Given the description of an element on the screen output the (x, y) to click on. 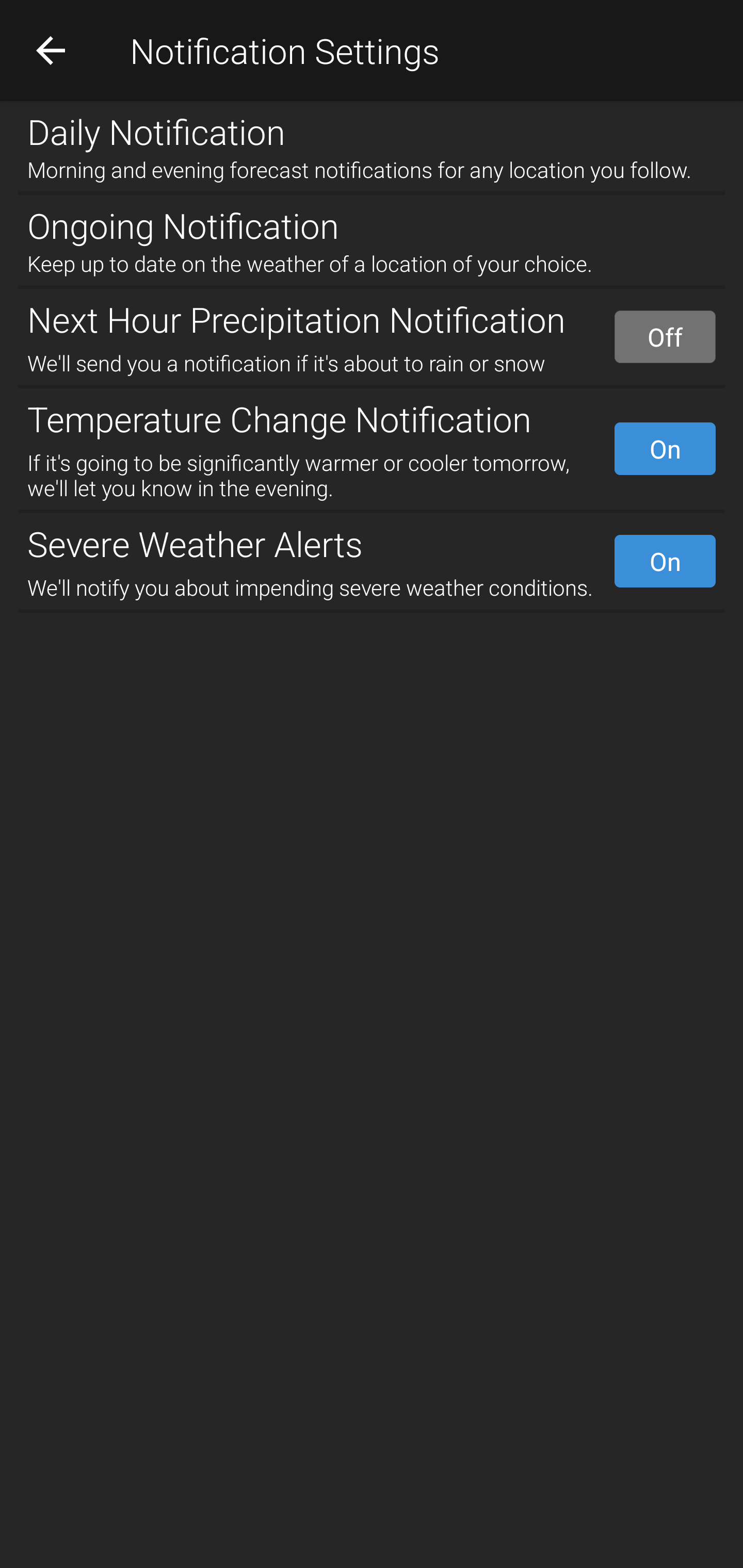
Navigate up (50, 50)
Daily Notification (371, 127)
Ongoing Notification (371, 221)
Off (664, 336)
On (664, 448)
On (664, 561)
